Given the description of an element on the screen output the (x, y) to click on. 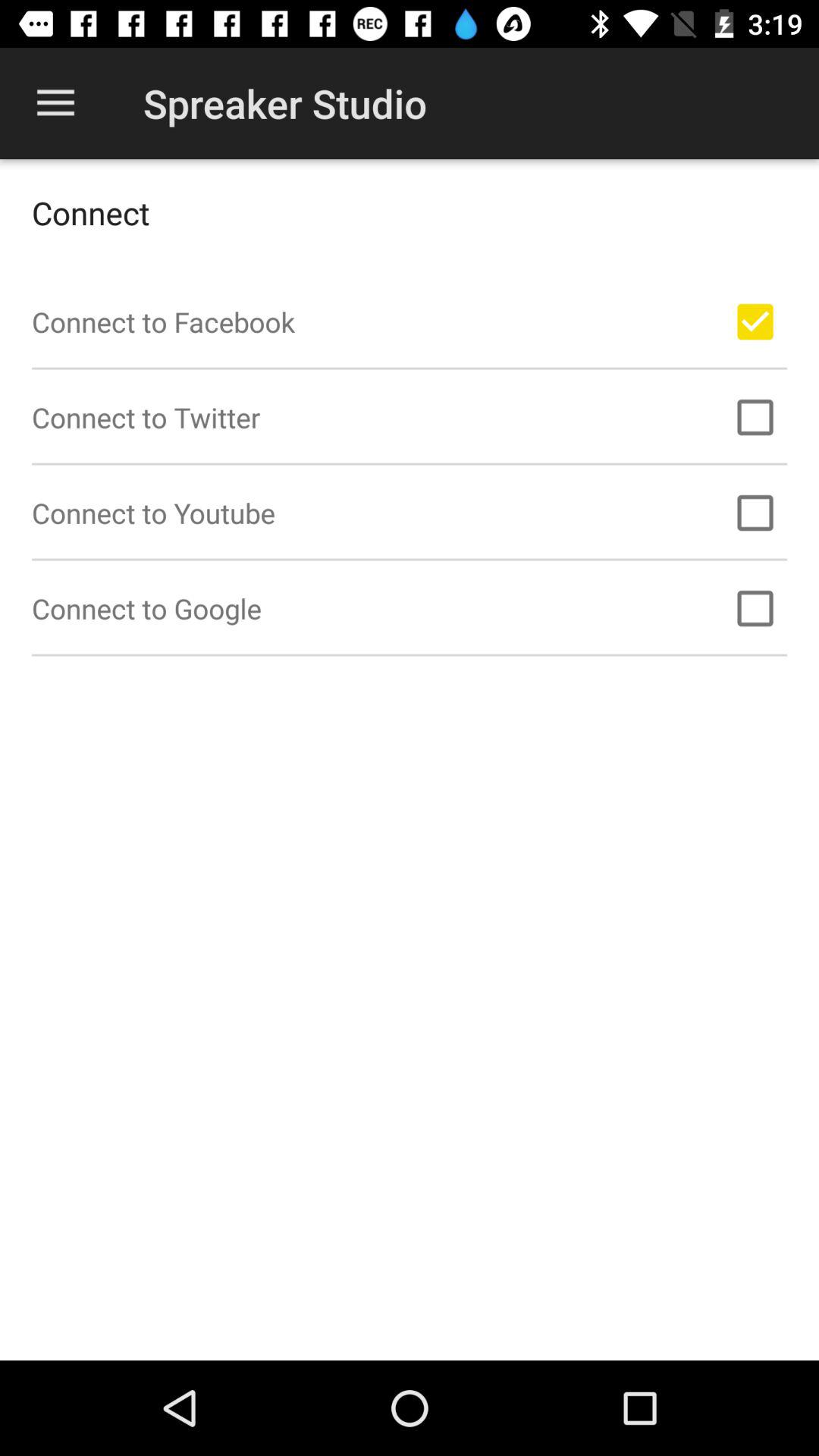
select option (755, 417)
